Given the description of an element on the screen output the (x, y) to click on. 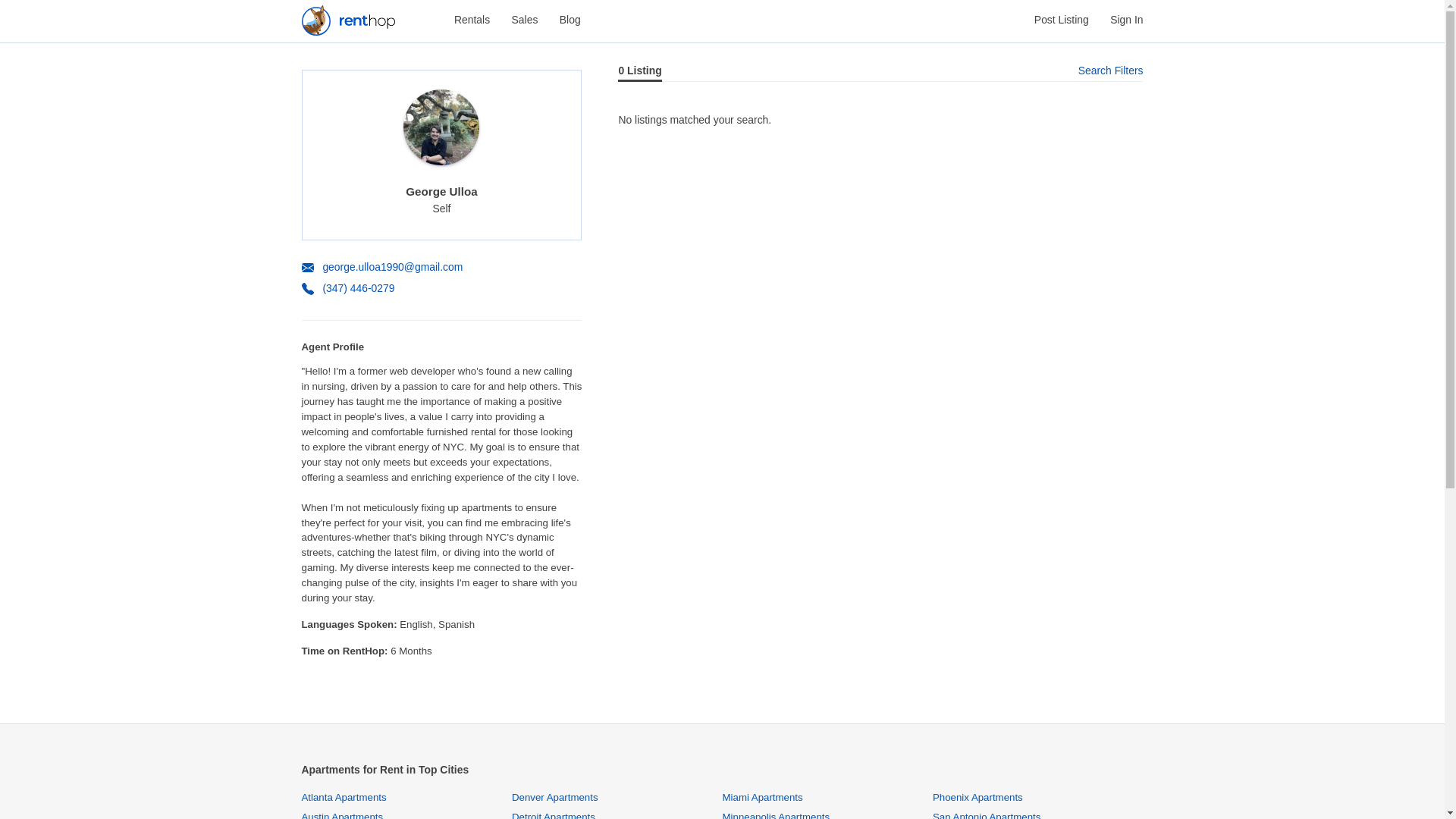
Blog (569, 19)
Denver Apartments (555, 797)
Post Listing (1061, 19)
Miami Apartments (762, 797)
Minneapolis Apartments (775, 815)
Atlanta Apartments (344, 797)
Sign In (1125, 19)
Rentals (471, 19)
Austin Apartments (342, 815)
Sales (525, 19)
